Given the description of an element on the screen output the (x, y) to click on. 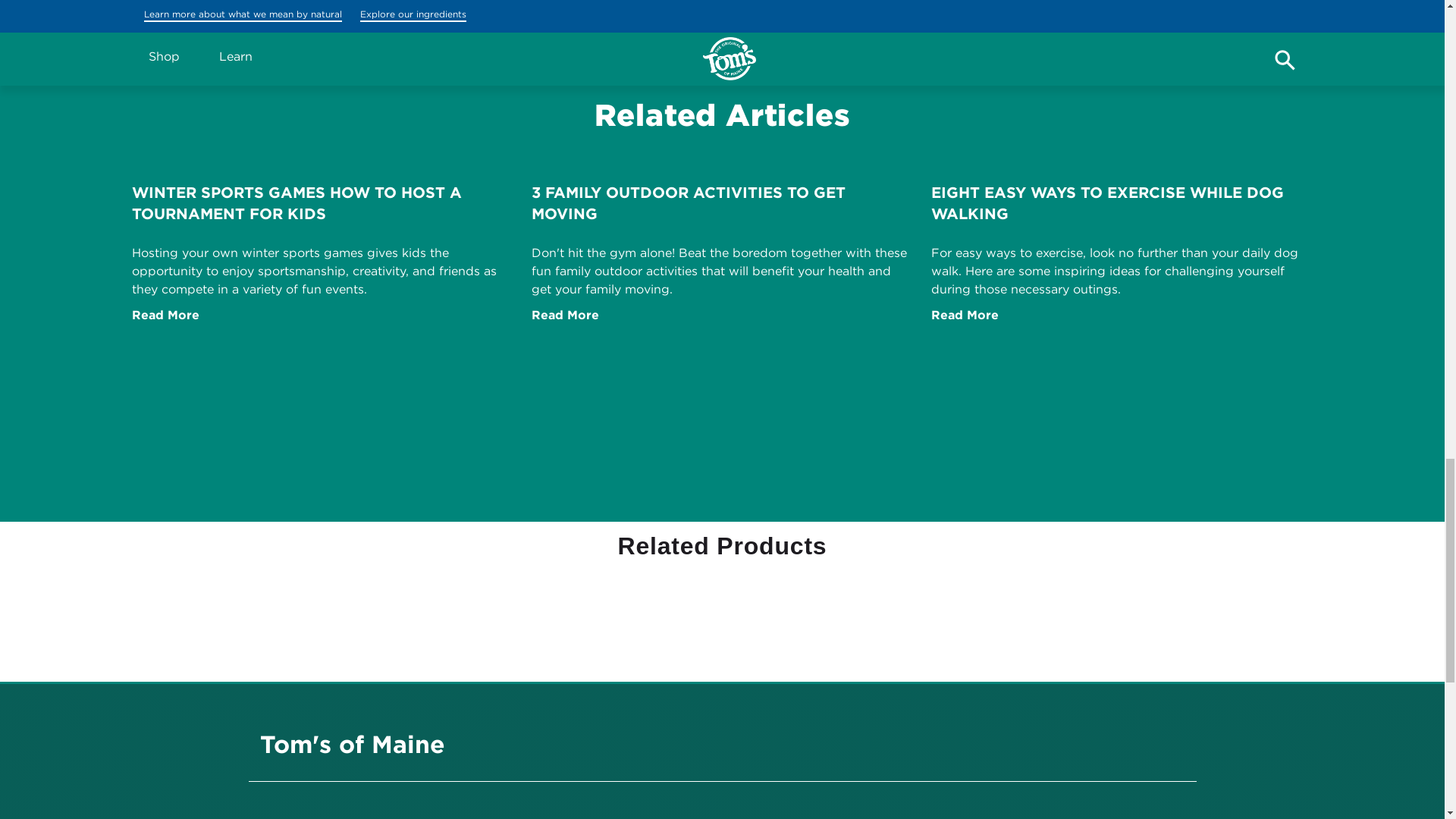
3 Family Outdoor Activities to Get Moving (564, 315)
Eight Easy Ways to Exercise While Dog Walking (964, 315)
Winter Sports Games How to Host a Tournament for Kids (165, 315)
